Given the description of an element on the screen output the (x, y) to click on. 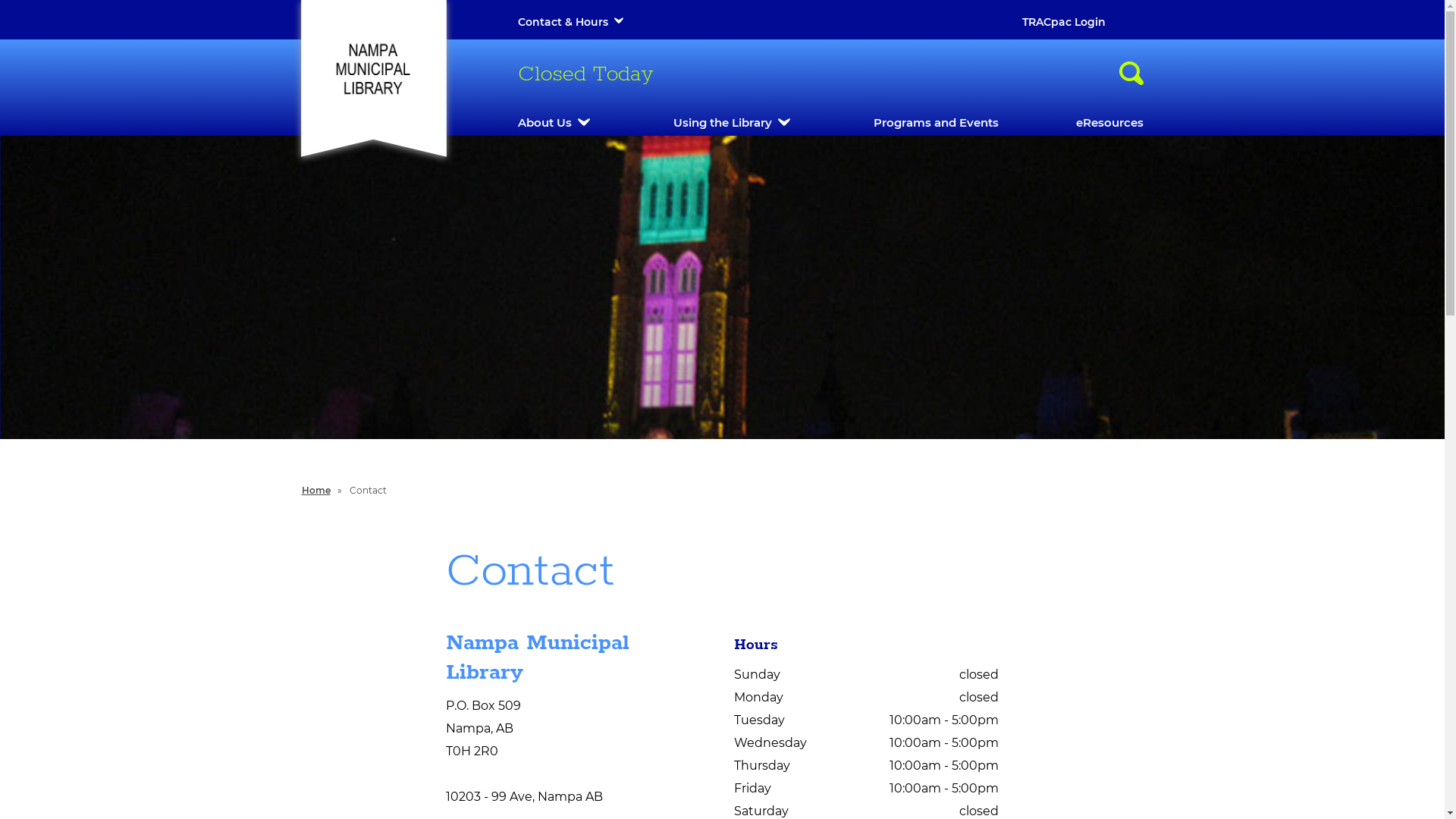
Programs and Events Element type: text (935, 122)
About Us Element type: text (544, 122)
Nampa Municipal Library Element type: hover (372, 70)
TRACpac Login Element type: text (1063, 21)
eResources Element type: text (1108, 122)
Home Element type: text (315, 489)
Using the Library Element type: text (722, 122)
Contact & Hours Element type: text (562, 21)
